Given the description of an element on the screen output the (x, y) to click on. 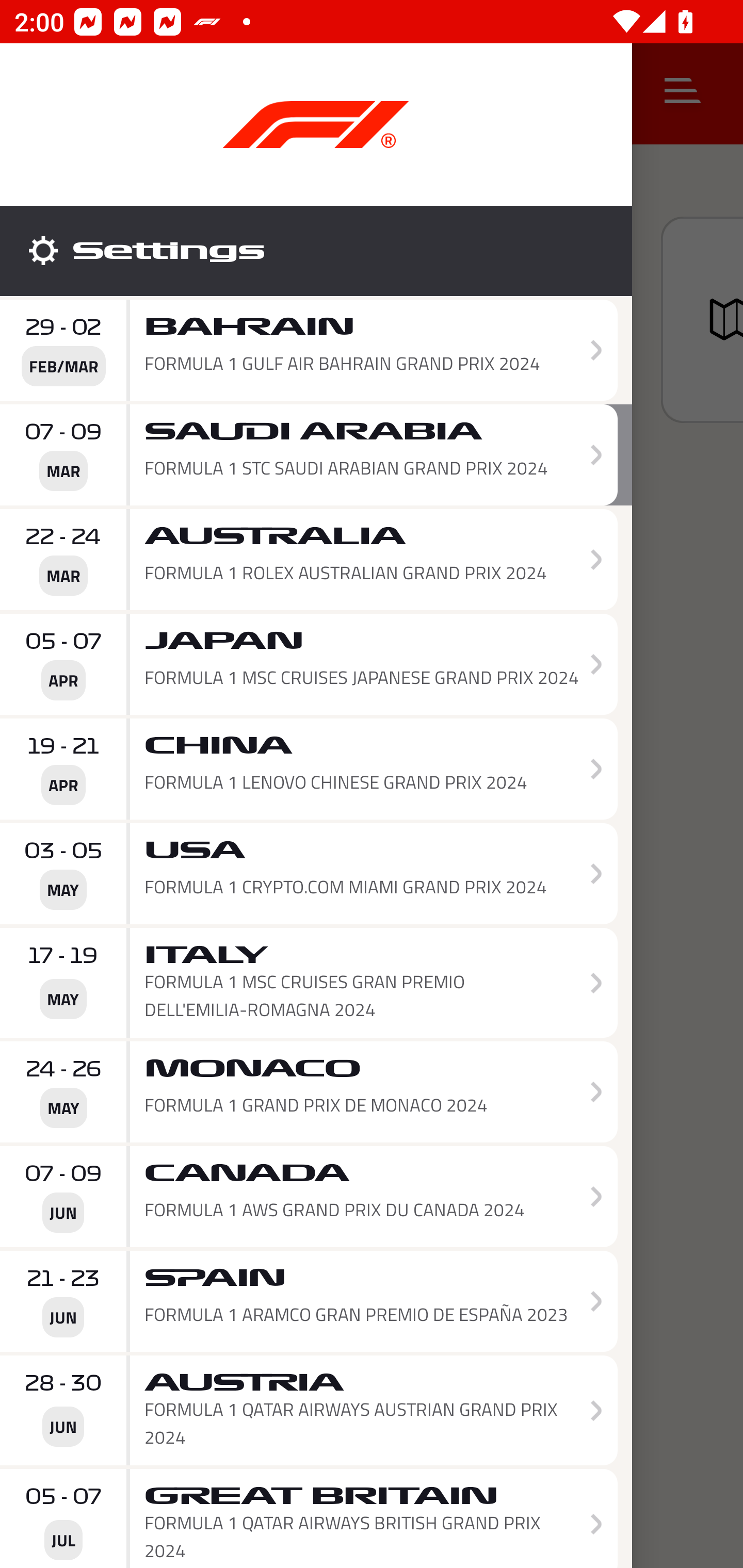
Settings (316, 250)
